Given the description of an element on the screen output the (x, y) to click on. 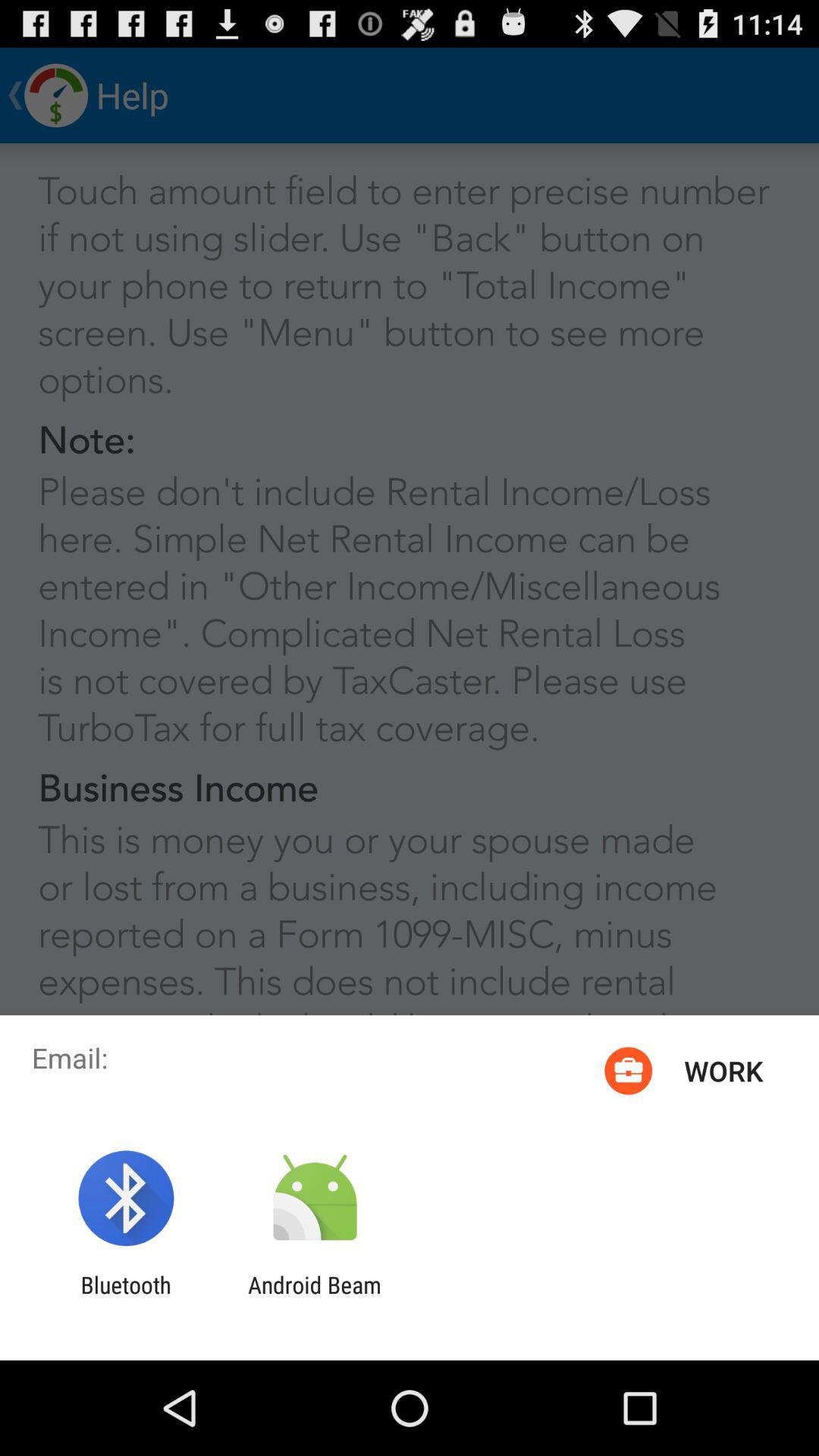
tap the android beam app (314, 1298)
